Given the description of an element on the screen output the (x, y) to click on. 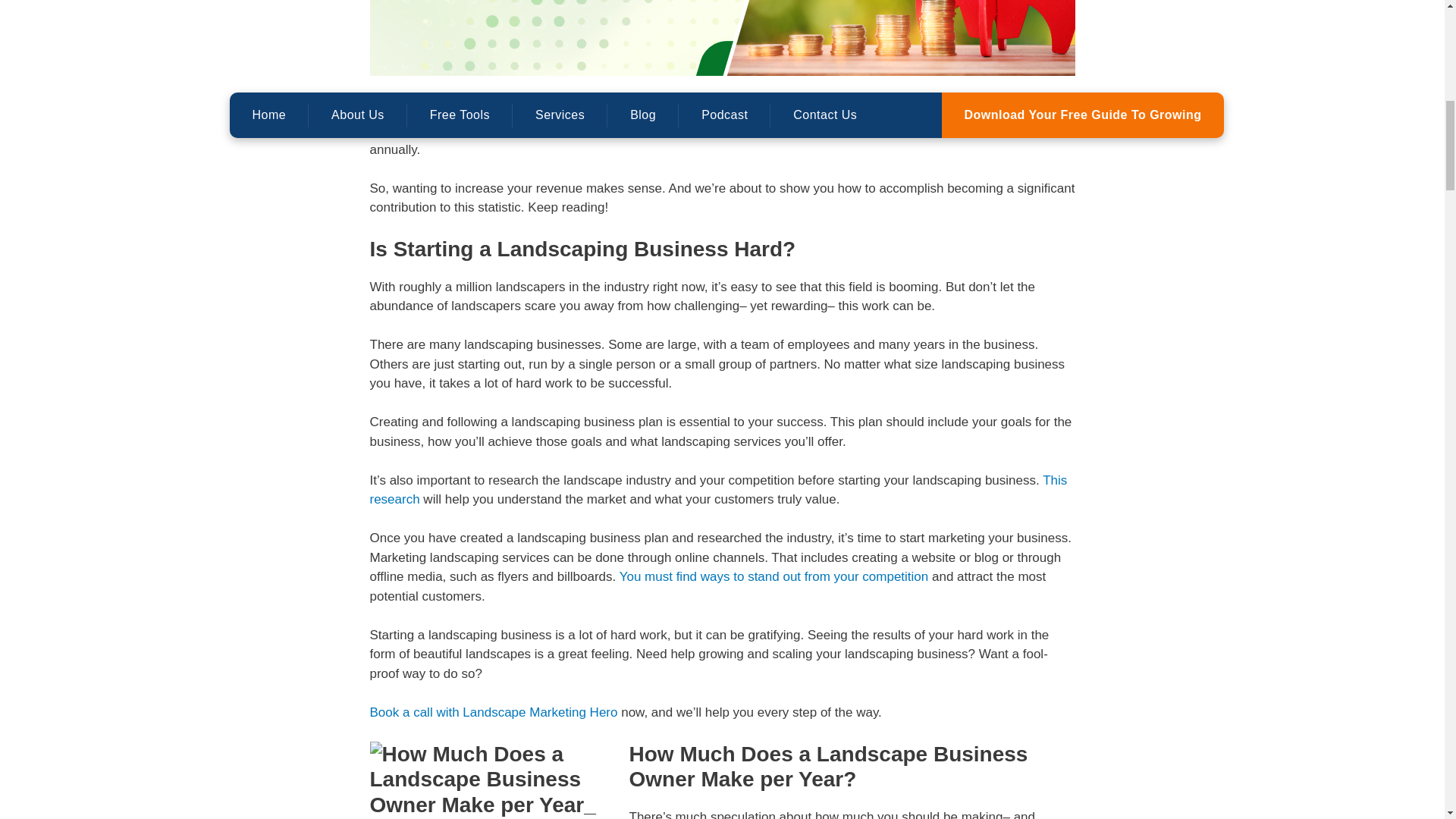
Book a call with Landscape Marketing Hero (493, 712)
This research (718, 489)
Scroll back to top (1406, 720)
You must find ways to stand out from your competition (775, 576)
